Given the description of an element on the screen output the (x, y) to click on. 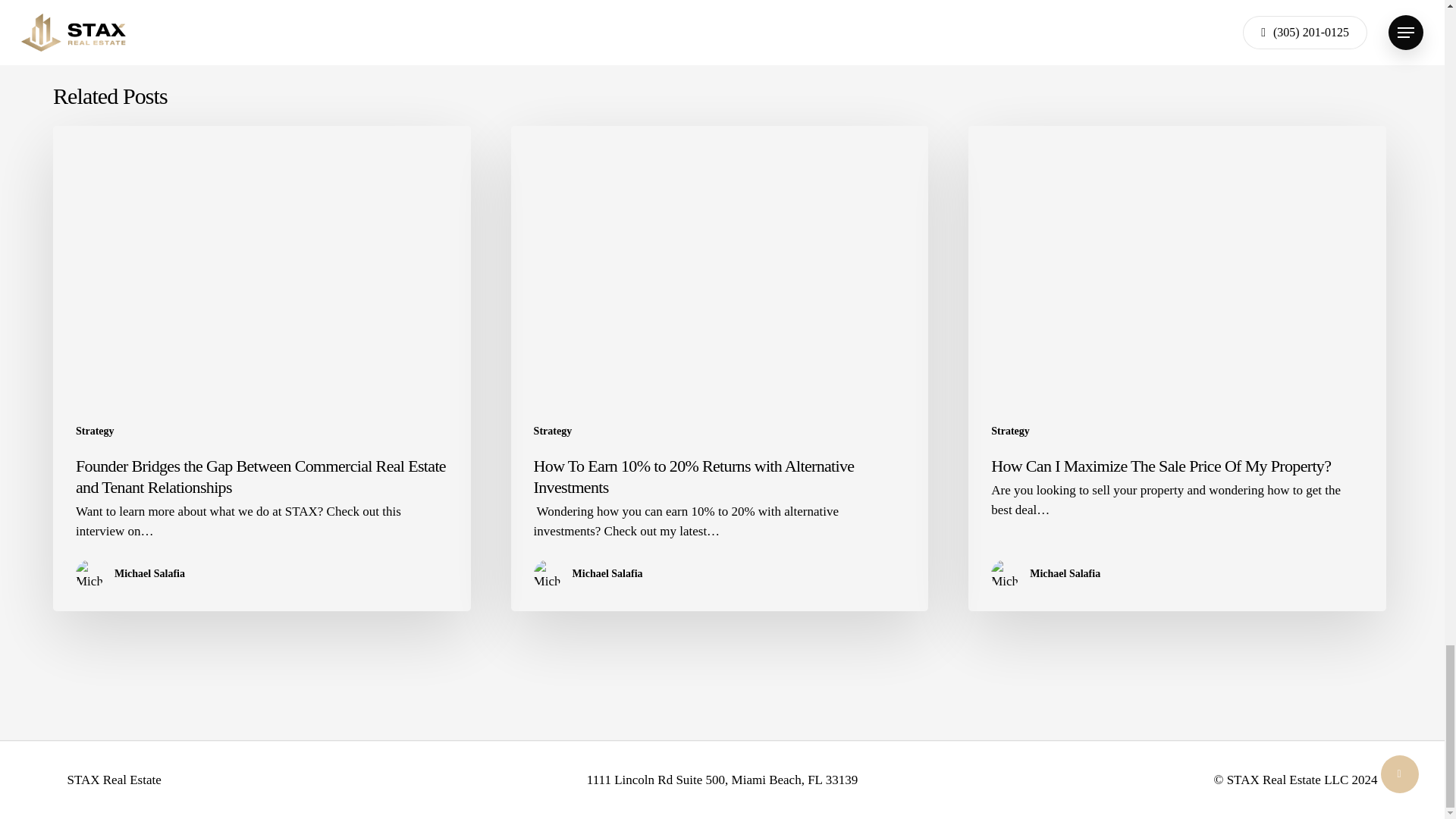
Michael Salafia (607, 574)
Michael Salafia (149, 574)
Strategy (95, 431)
Strategy (1010, 431)
Michael Salafia (1064, 574)
Strategy (553, 431)
